Given the description of an element on the screen output the (x, y) to click on. 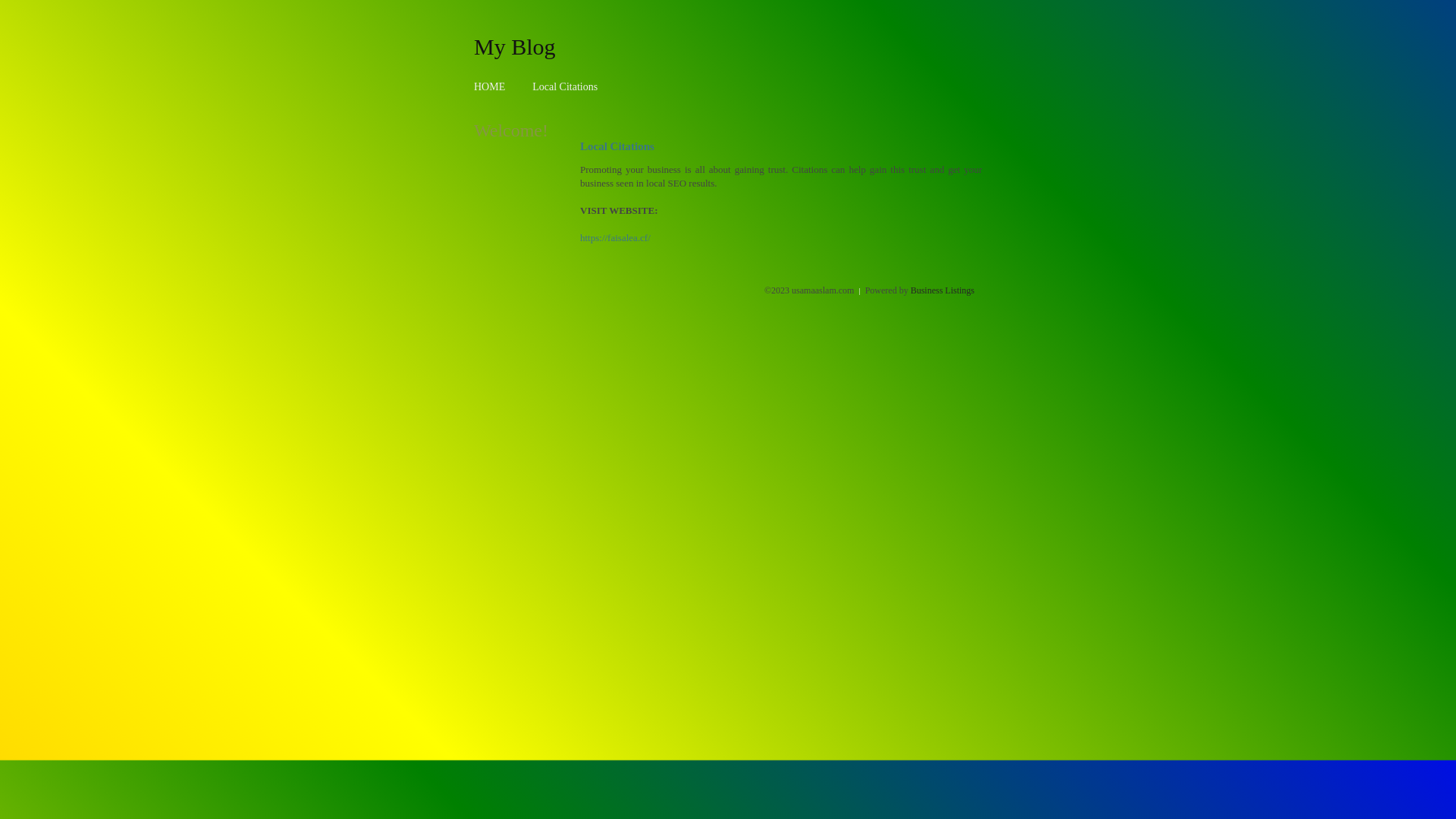
Business Listings Element type: text (942, 290)
https://faisalea.cf/ Element type: text (615, 237)
Local Citations Element type: text (564, 86)
My Blog Element type: text (514, 46)
HOME Element type: text (489, 86)
